Given the description of an element on the screen output the (x, y) to click on. 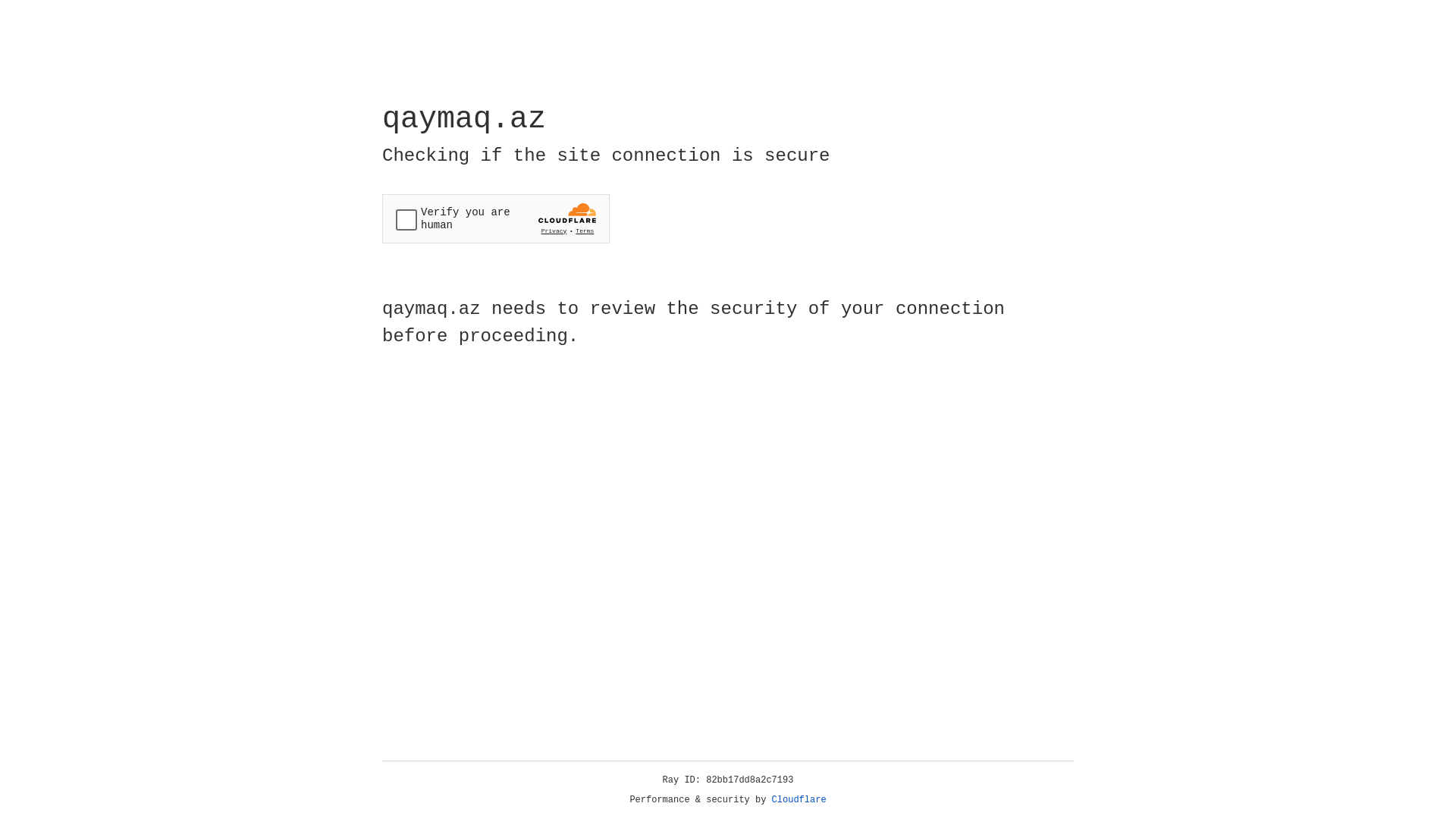
Widget containing a Cloudflare security challenge Element type: hover (495, 218)
Cloudflare Element type: text (798, 799)
